Given the description of an element on the screen output the (x, y) to click on. 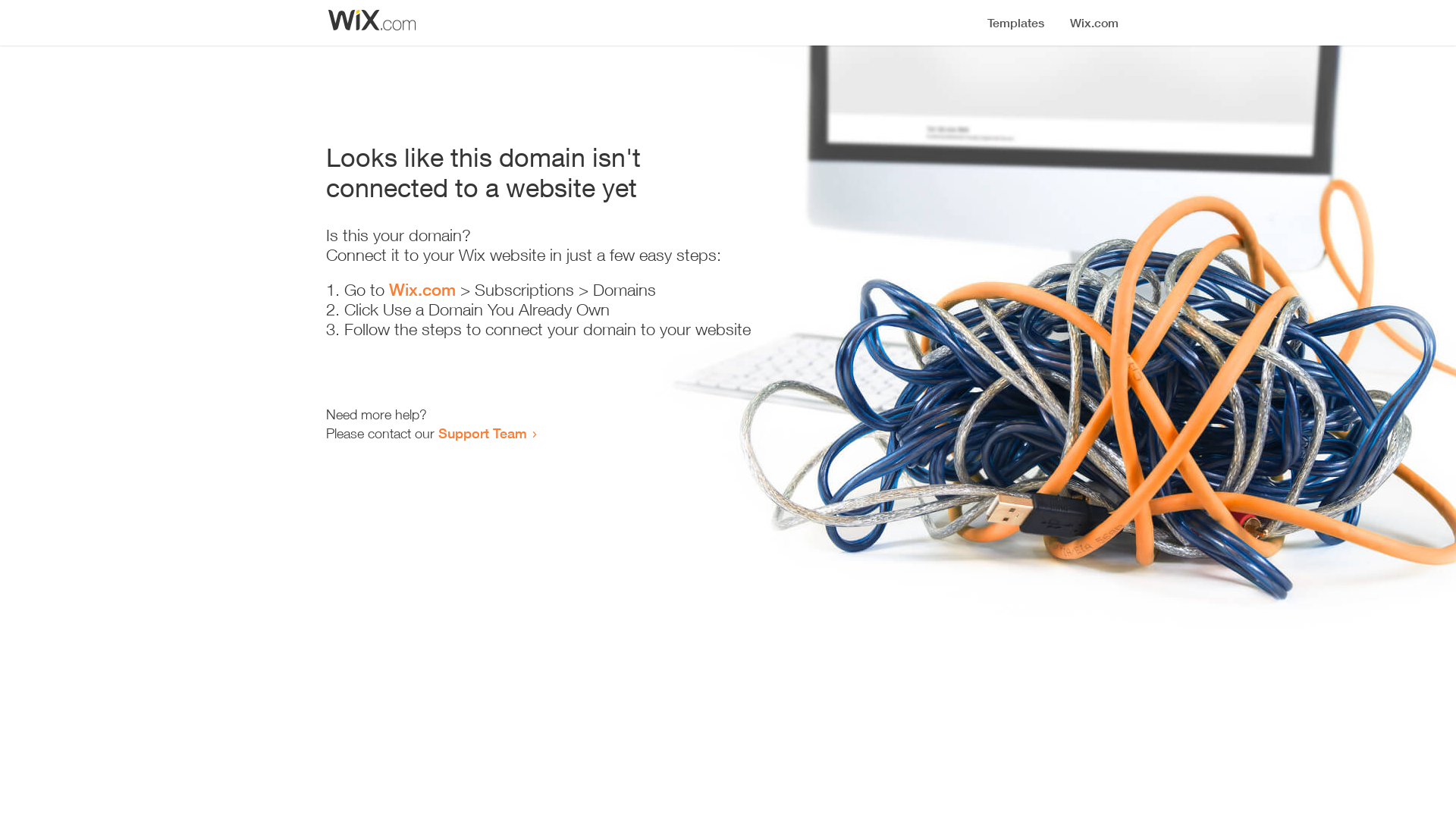
Wix.com Element type: text (422, 289)
Support Team Element type: text (482, 432)
